Given the description of an element on the screen output the (x, y) to click on. 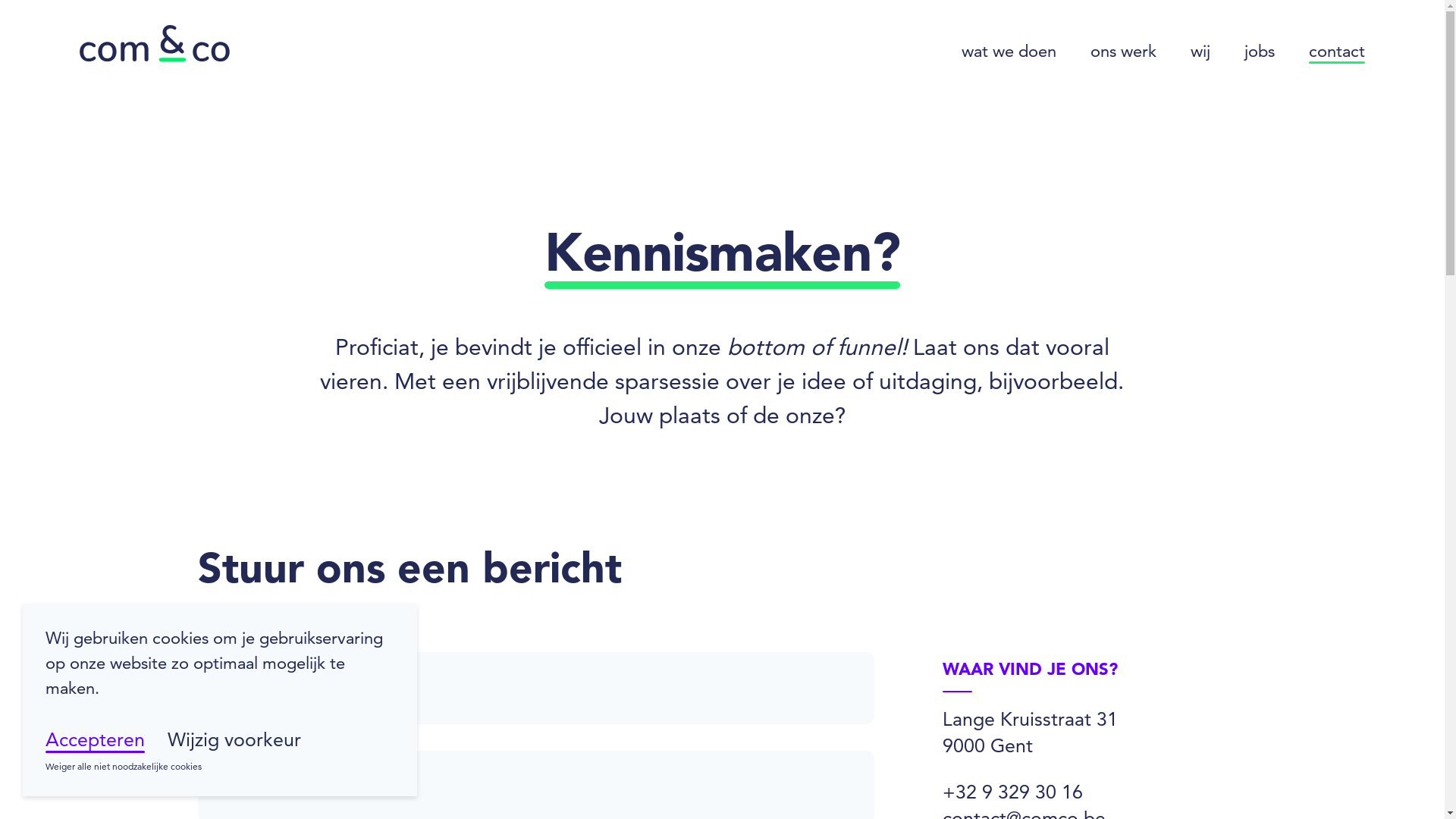
Accepteren Element type: text (94, 739)
wij Element type: text (1200, 51)
contact Element type: text (1336, 51)
Lange Kruisstraat 31
9000 Gent Element type: text (1029, 732)
+32 9 329 30 16 Element type: text (1012, 791)
ons werk Element type: text (1123, 51)
jobs Element type: text (1259, 51)
Weiger alle niet noodzakelijke cookies Element type: text (123, 766)
Wijzig voorkeur Element type: text (234, 739)
wat we doen Element type: text (1008, 51)
